Given the description of an element on the screen output the (x, y) to click on. 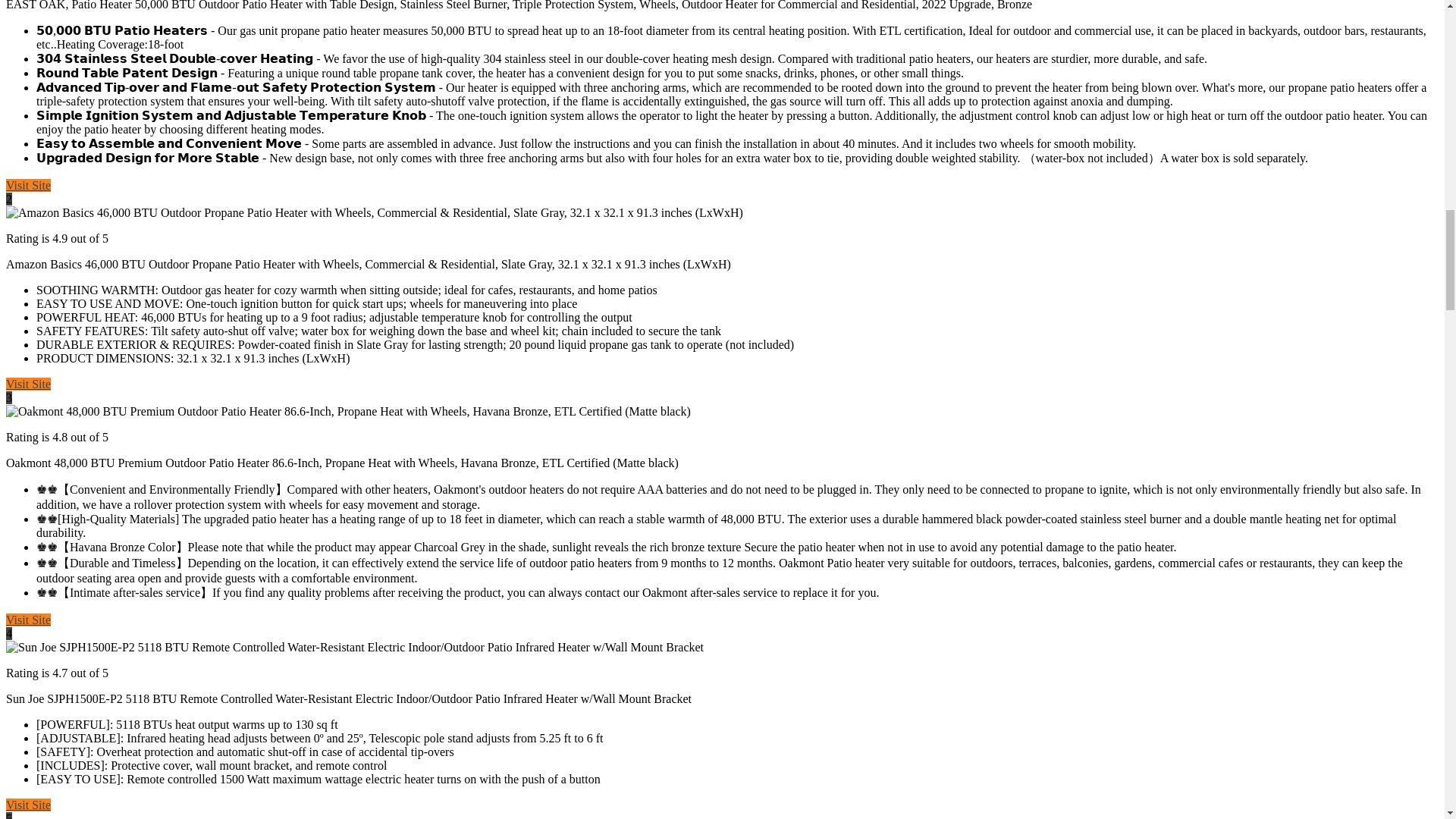
Visit Site (27, 804)
Visit Site (27, 185)
Visit Site (27, 619)
Visit Site (27, 383)
